Given the description of an element on the screen output the (x, y) to click on. 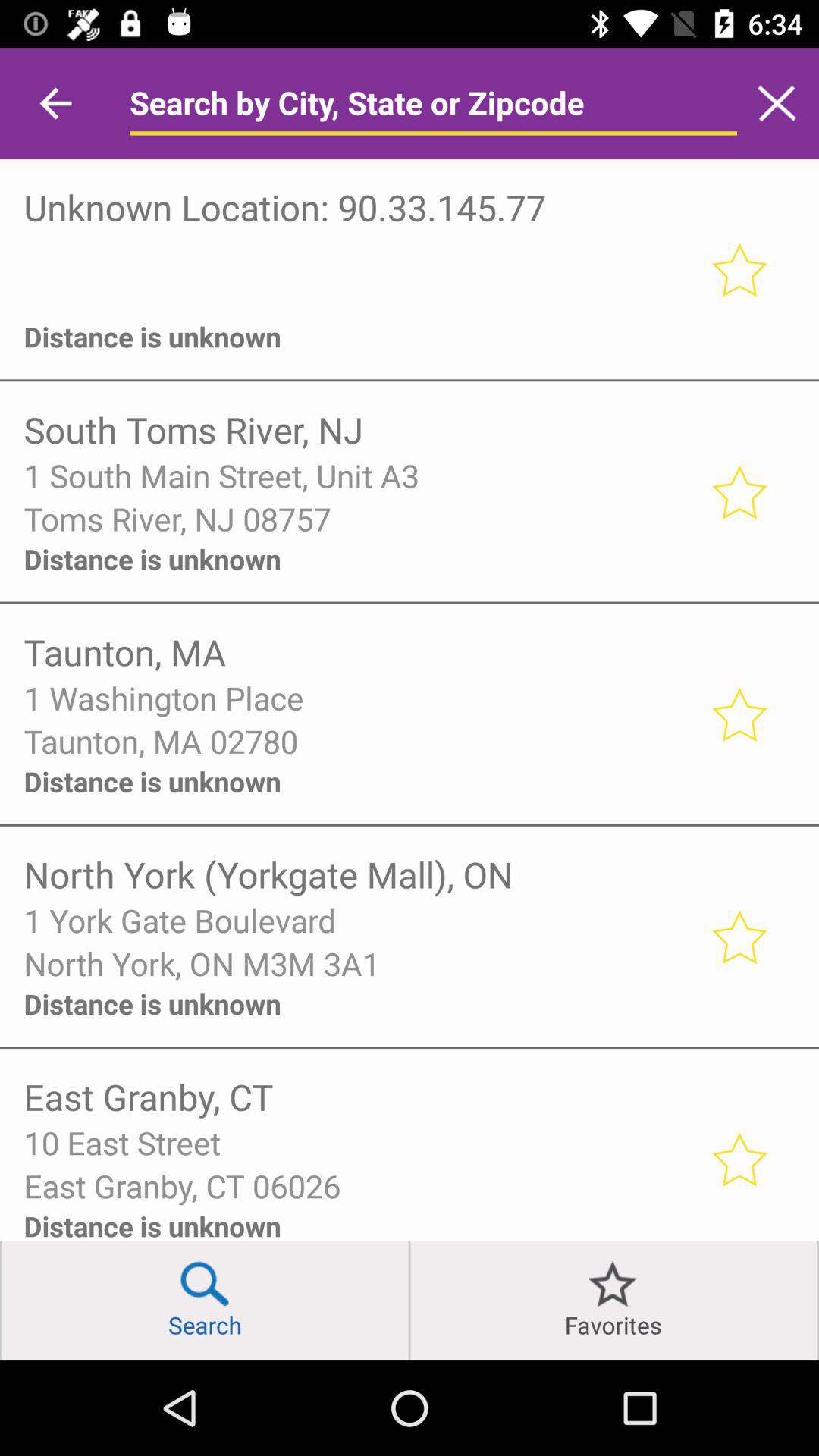
favorite (738, 491)
